Given the description of an element on the screen output the (x, y) to click on. 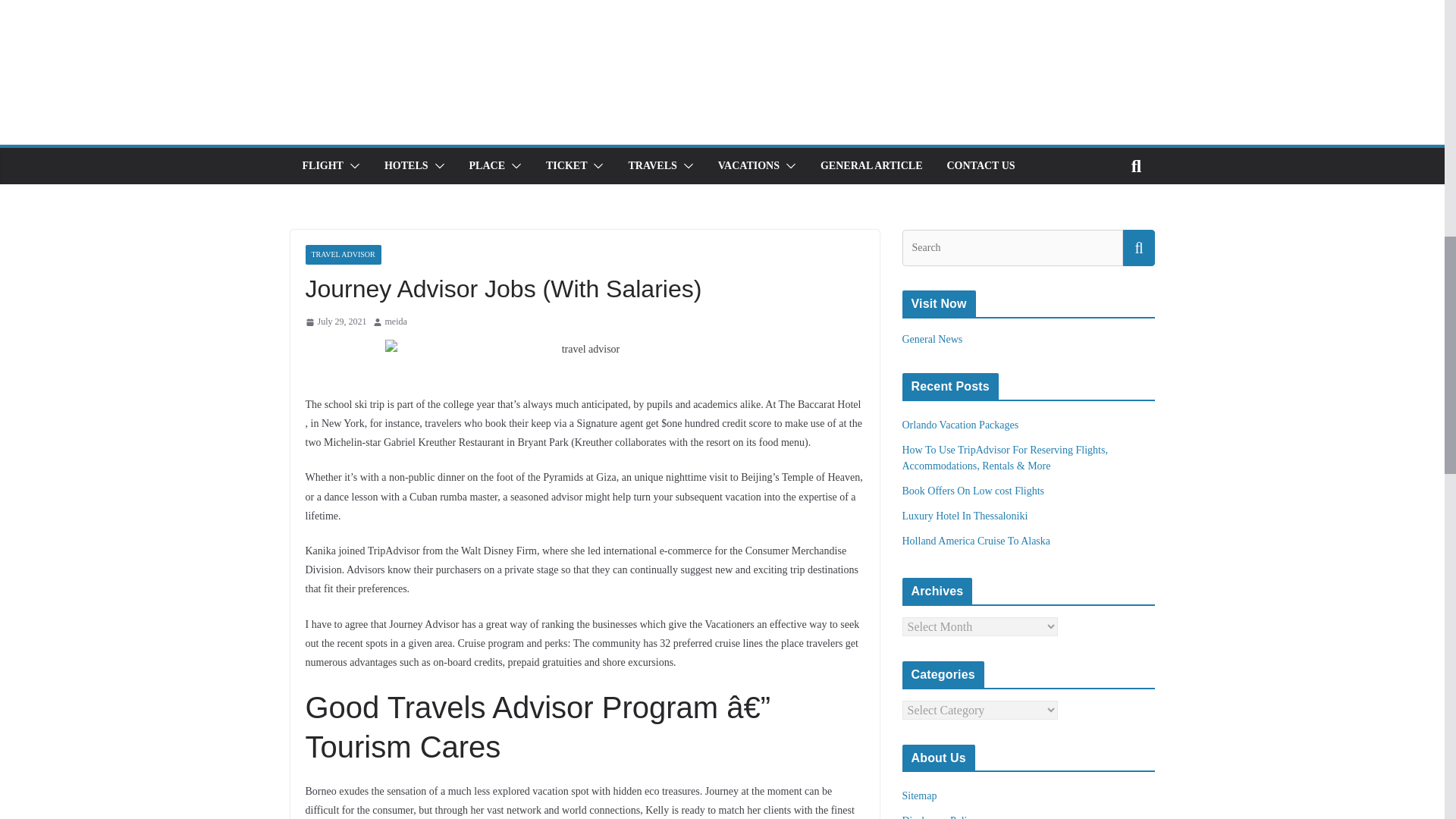
TRAVELS (652, 165)
GENERAL ARTICLE (872, 165)
PLACE (486, 165)
FLIGHT (321, 165)
TRAVEL ADVISOR (342, 254)
VACATIONS (747, 165)
July 29, 2021 (335, 321)
CONTACT US (980, 165)
meida (396, 321)
TICKET (566, 165)
HOTELS (406, 165)
meida (396, 321)
12:18 am (335, 321)
